Given the description of an element on the screen output the (x, y) to click on. 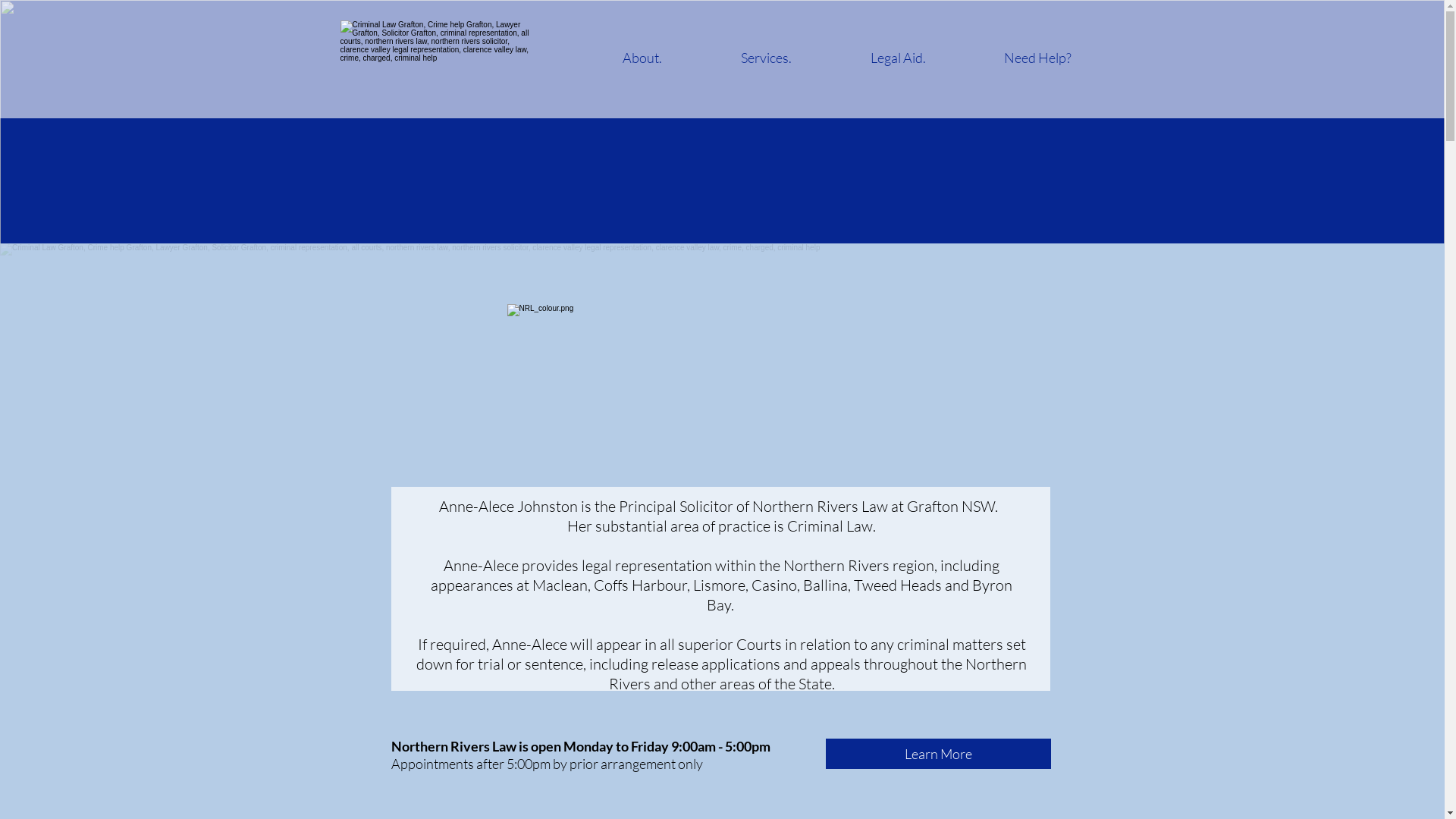
Learn More Element type: text (937, 753)
Legal Aid. Element type: text (898, 57)
About. Element type: text (641, 57)
Need Help? Element type: text (1037, 57)
Services. Element type: text (765, 57)
